Given the description of an element on the screen output the (x, y) to click on. 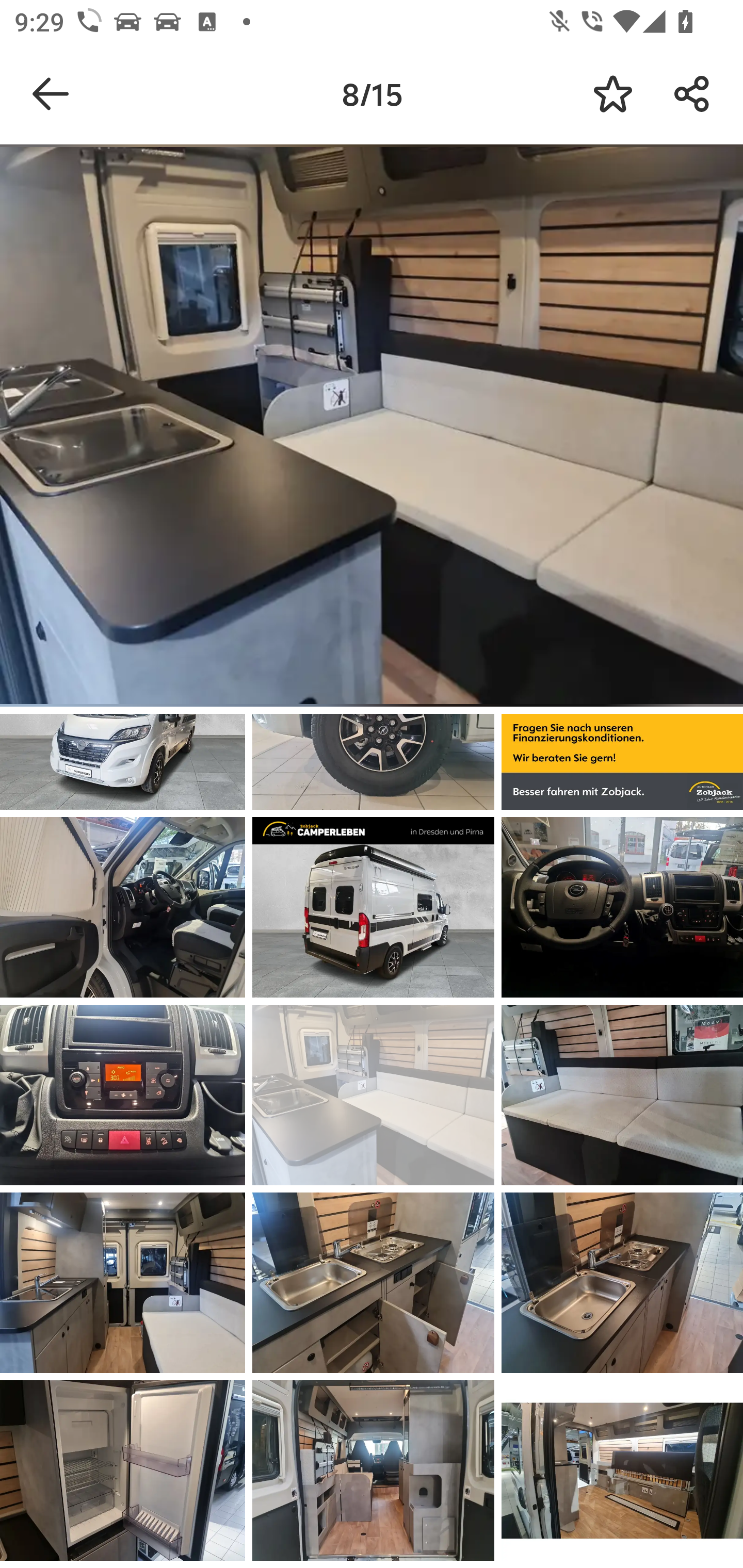
back button (50, 93)
share button (692, 93)
main image view (371, 428)
image (122, 906)
image (373, 906)
image (622, 906)
image (122, 1095)
image (373, 1095)
image (622, 1095)
image (122, 1283)
image (373, 1283)
image (622, 1283)
image (122, 1469)
image (373, 1469)
image (622, 1469)
